Given the description of an element on the screen output the (x, y) to click on. 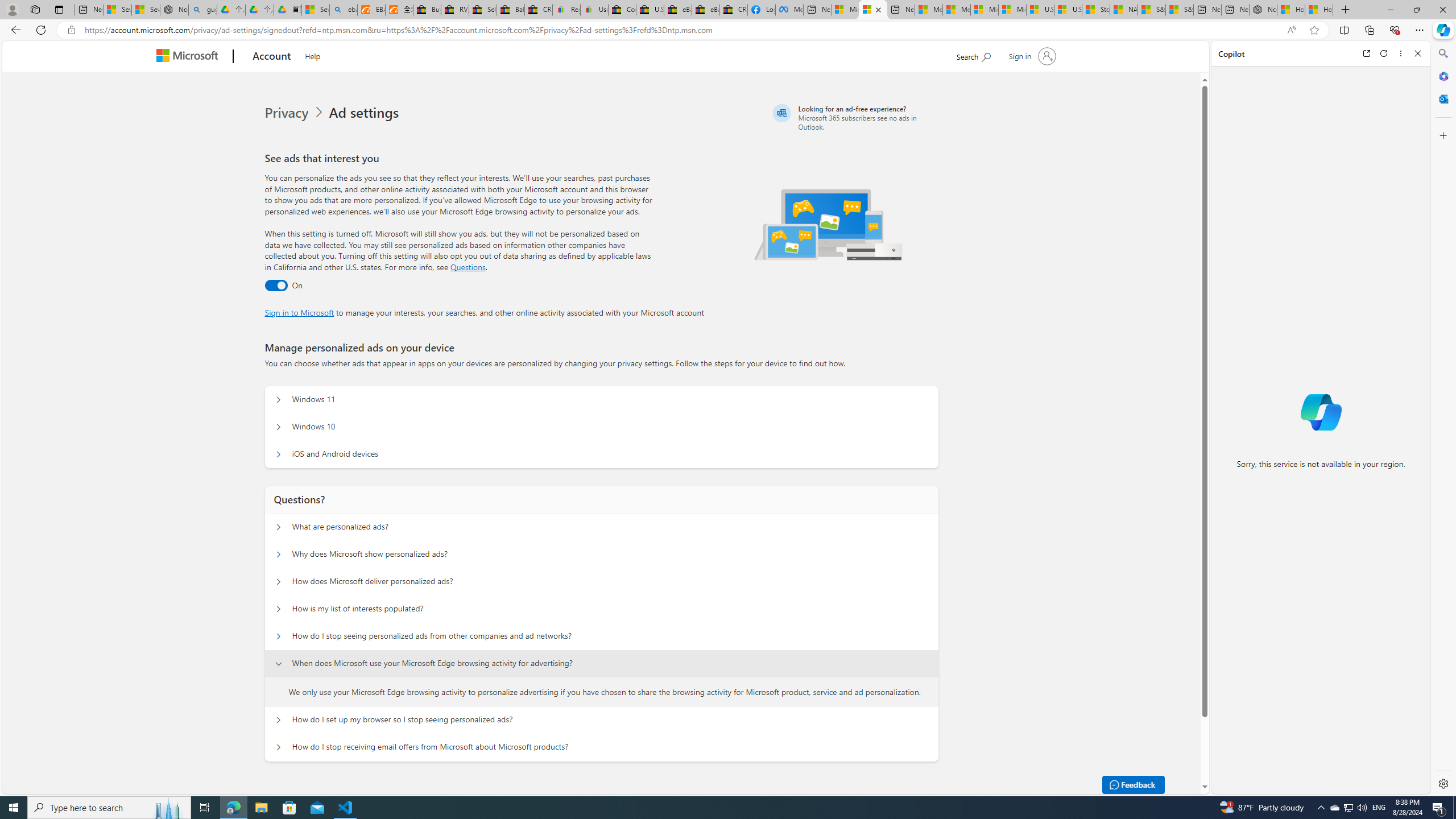
Go to Questions section (467, 266)
Manage personalized ads on your device Windows 11 (278, 400)
Privacy (287, 112)
Ad settings toggle (276, 285)
Help (312, 54)
Manage personalized ads on your device Windows 10 (278, 427)
